Given the description of an element on the screen output the (x, y) to click on. 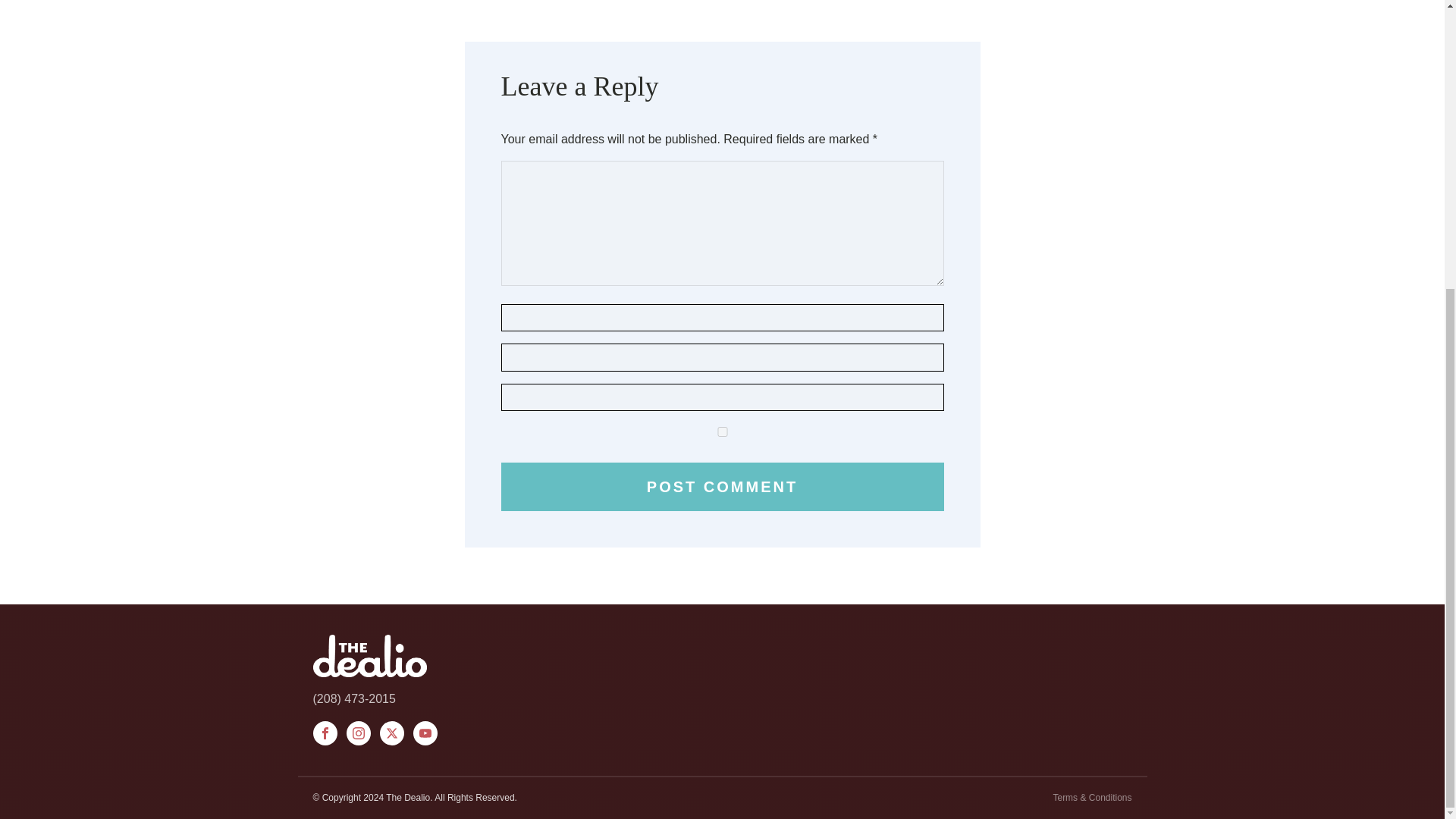
yes (721, 431)
Post Comment (721, 486)
Post Comment (721, 486)
